Given the description of an element on the screen output the (x, y) to click on. 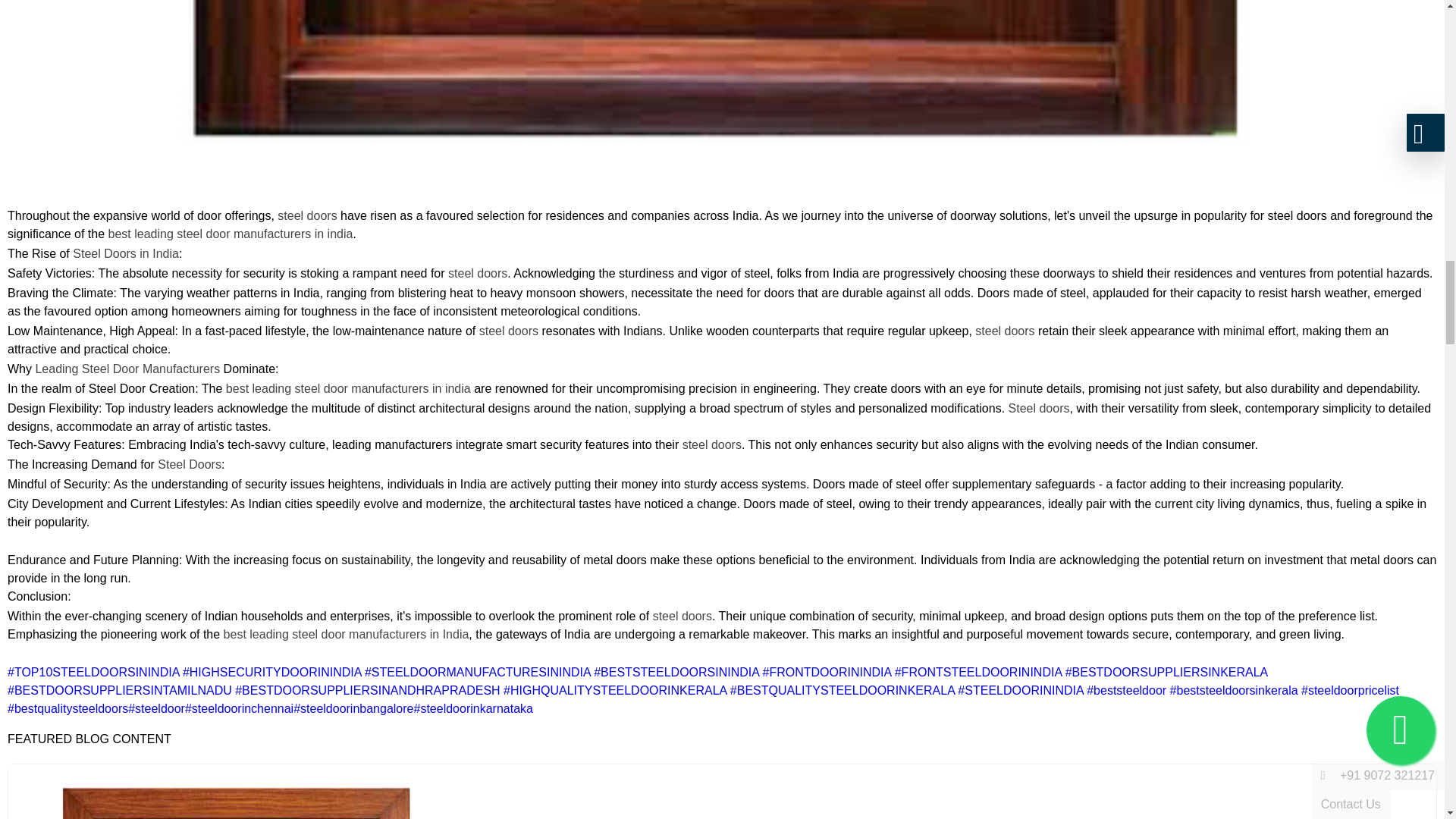
steel doors (711, 444)
Leading Steel Door Manufacturers (126, 368)
Steel doors (1036, 408)
best leading steel door manufacturers in india (347, 388)
steel doors (508, 330)
best leading steel door manufacturers in India (346, 634)
best leading steel door manufacturers in india (228, 233)
Steel Doors in India (125, 253)
steel doors (1003, 330)
steel doors (681, 615)
Steel Doors (189, 463)
